Given the description of an element on the screen output the (x, y) to click on. 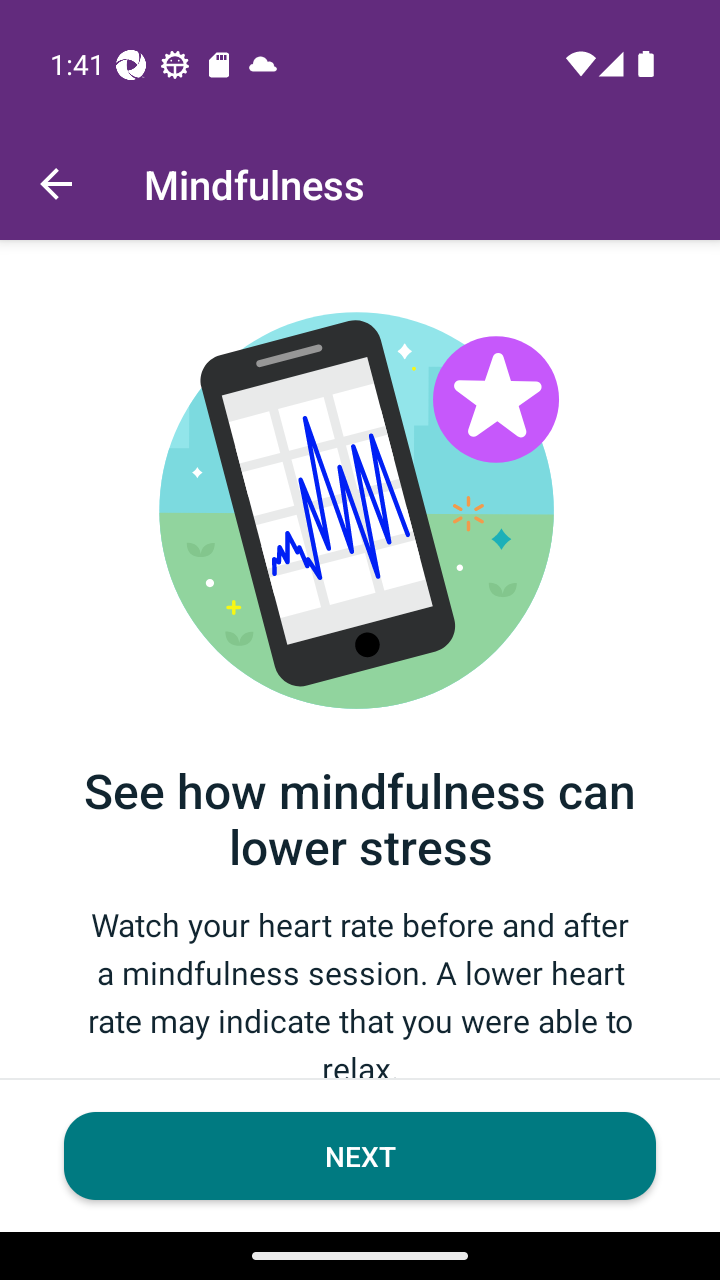
Navigate up (56, 184)
NEXT (359, 1156)
